Given the description of an element on the screen output the (x, y) to click on. 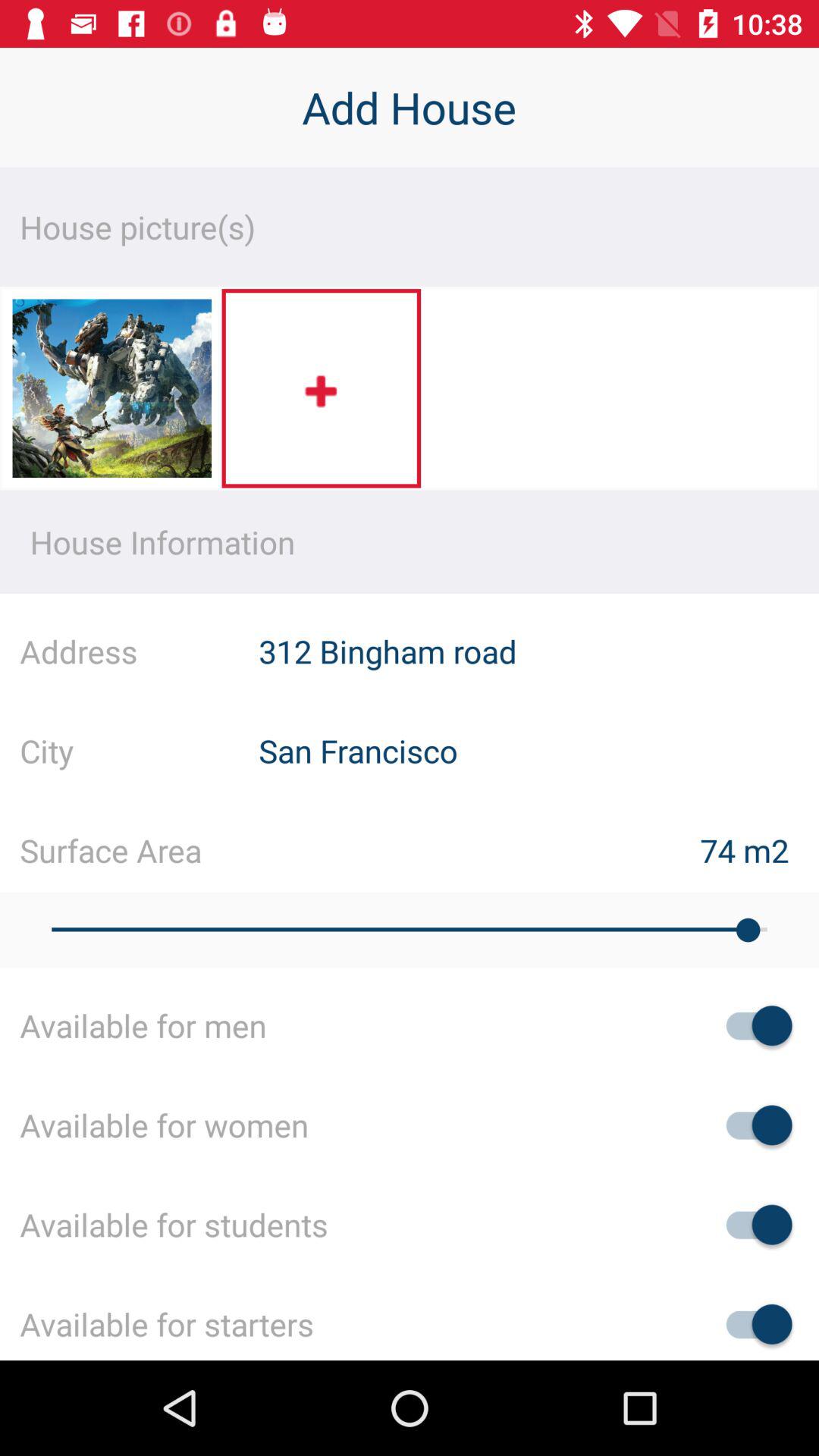
flip until san francisco item (538, 750)
